Given the description of an element on the screen output the (x, y) to click on. 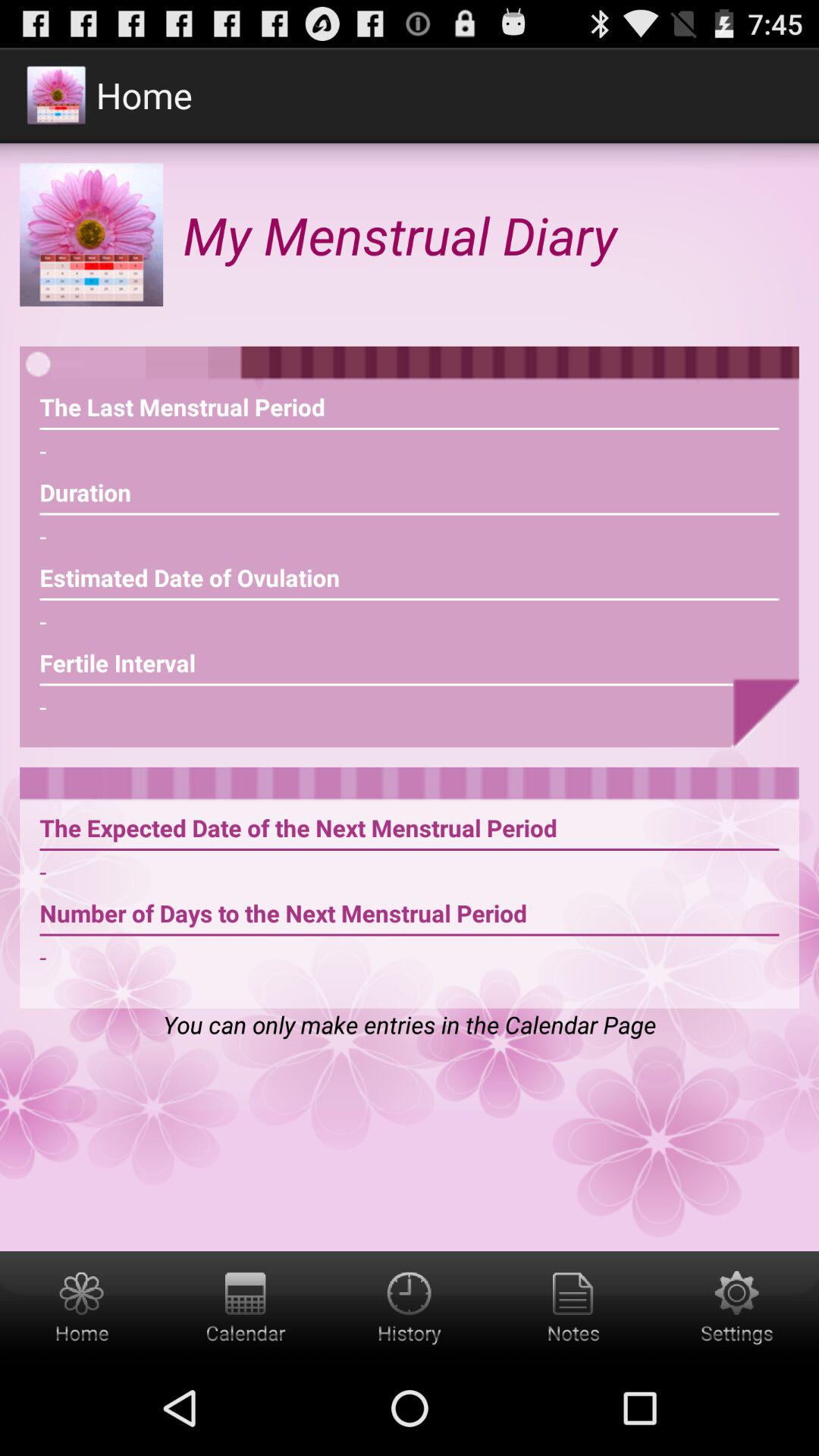
settings button (737, 1305)
